Given the description of an element on the screen output the (x, y) to click on. 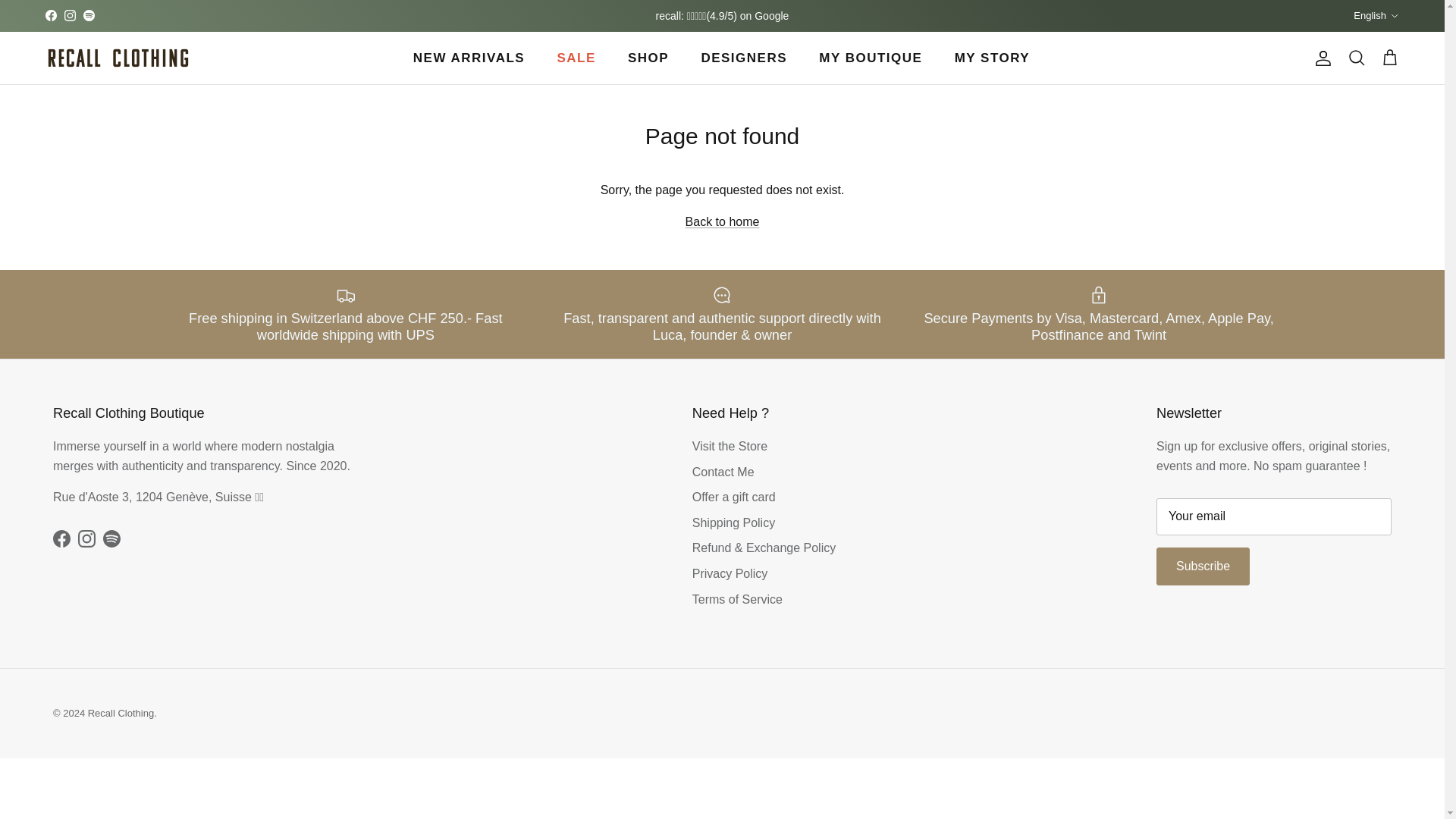
Recall Clothing on Facebook (50, 15)
SHOP (648, 58)
MY BOUTIQUE (870, 58)
Recall Clothing on Instagram (87, 538)
Recall Clothing (117, 57)
SALE (575, 58)
Recall Clothing on Instagram (69, 15)
Recall Clothing on Spotify (88, 15)
DESIGNERS (743, 58)
Account (1319, 58)
